Given the description of an element on the screen output the (x, y) to click on. 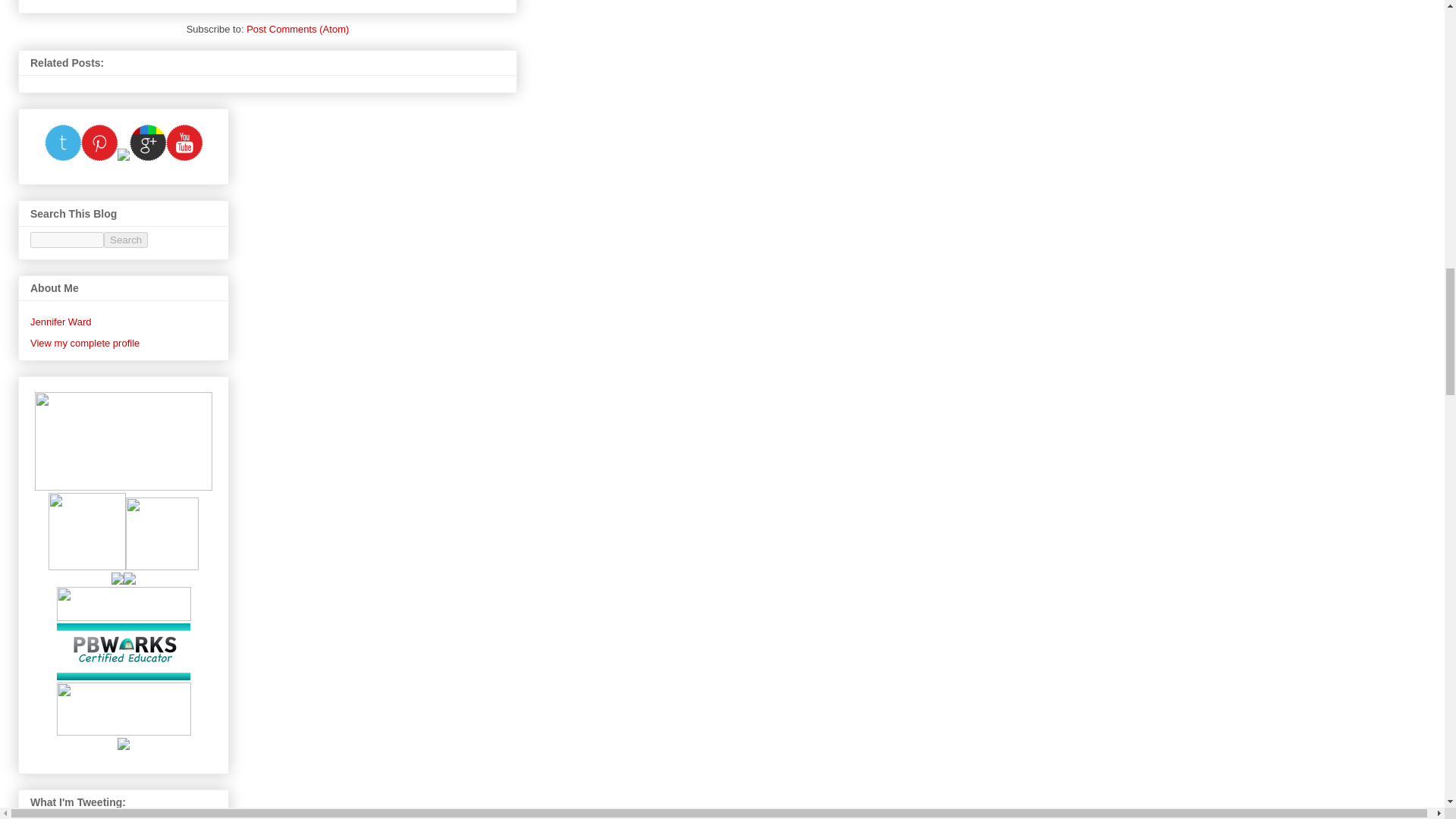
Older Post (122, 0)
Search (125, 239)
Older Post (122, 0)
Search (125, 239)
Newer Post (60, 0)
Newer Post (60, 0)
search (66, 239)
